Given the description of an element on the screen output the (x, y) to click on. 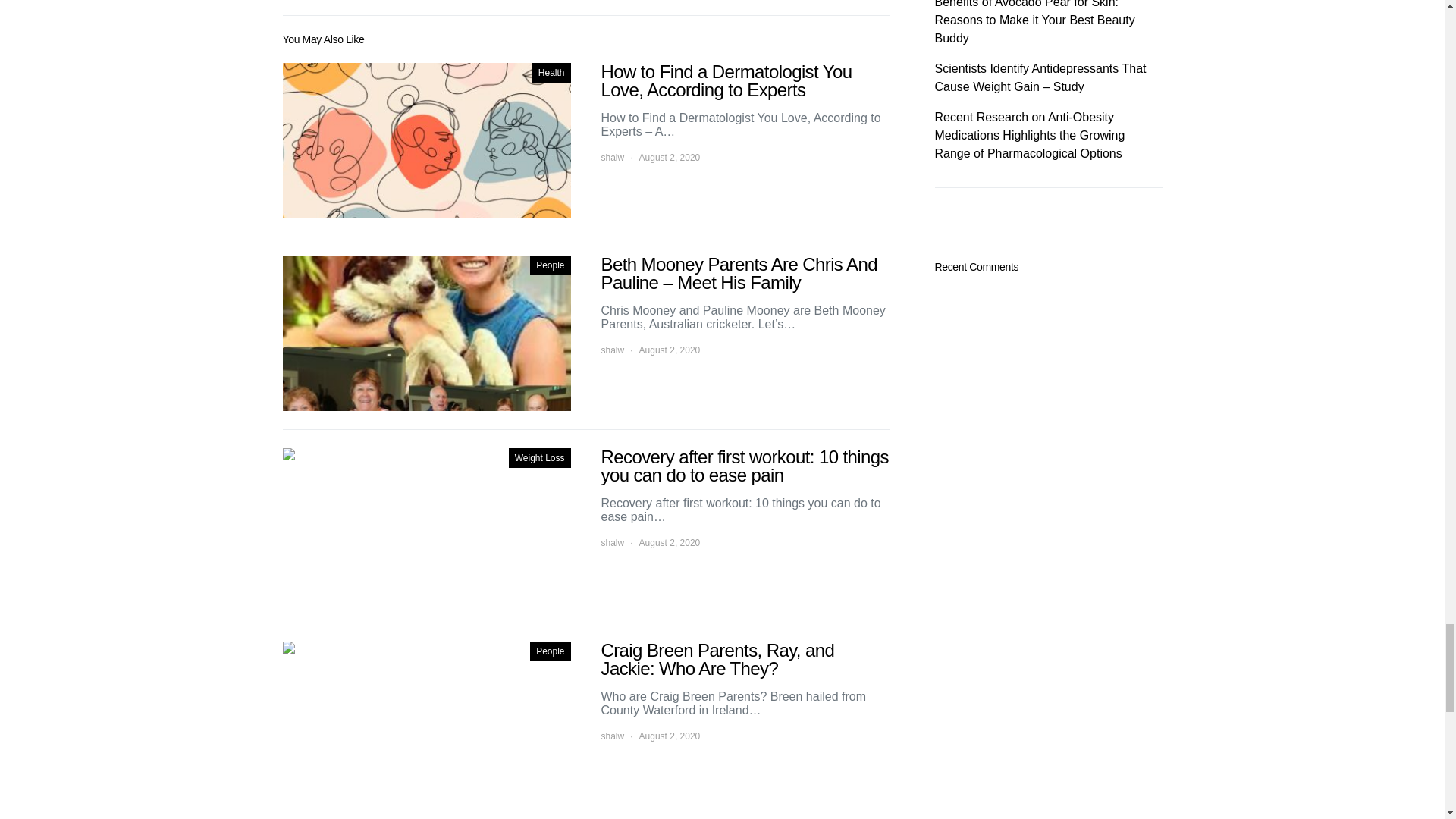
View all posts by shalw (611, 735)
View all posts by shalw (611, 542)
View all posts by shalw (611, 350)
View all posts by shalw (611, 157)
